Given the description of an element on the screen output the (x, y) to click on. 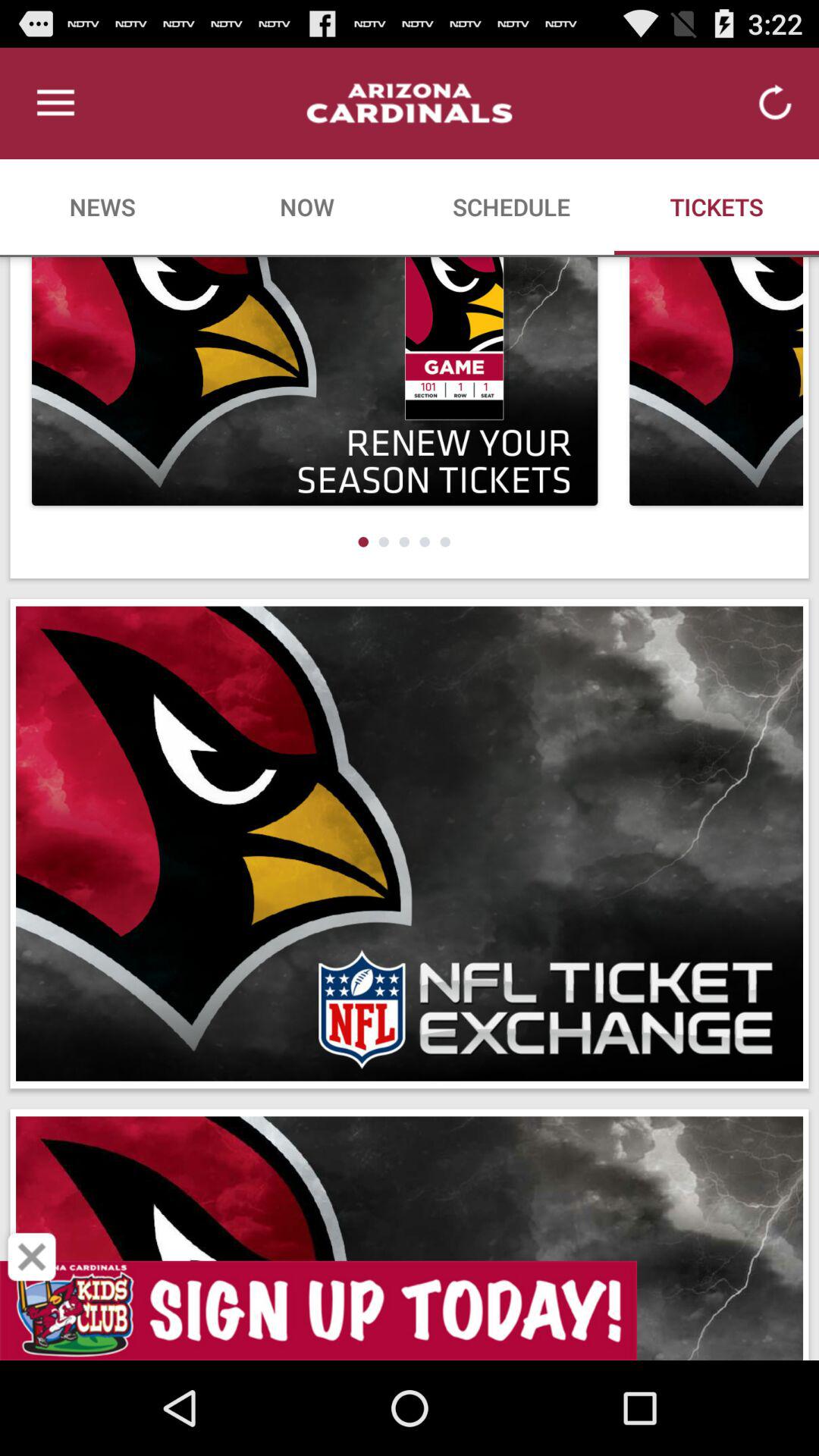
go to favorite (31, 1256)
